Given the description of an element on the screen output the (x, y) to click on. 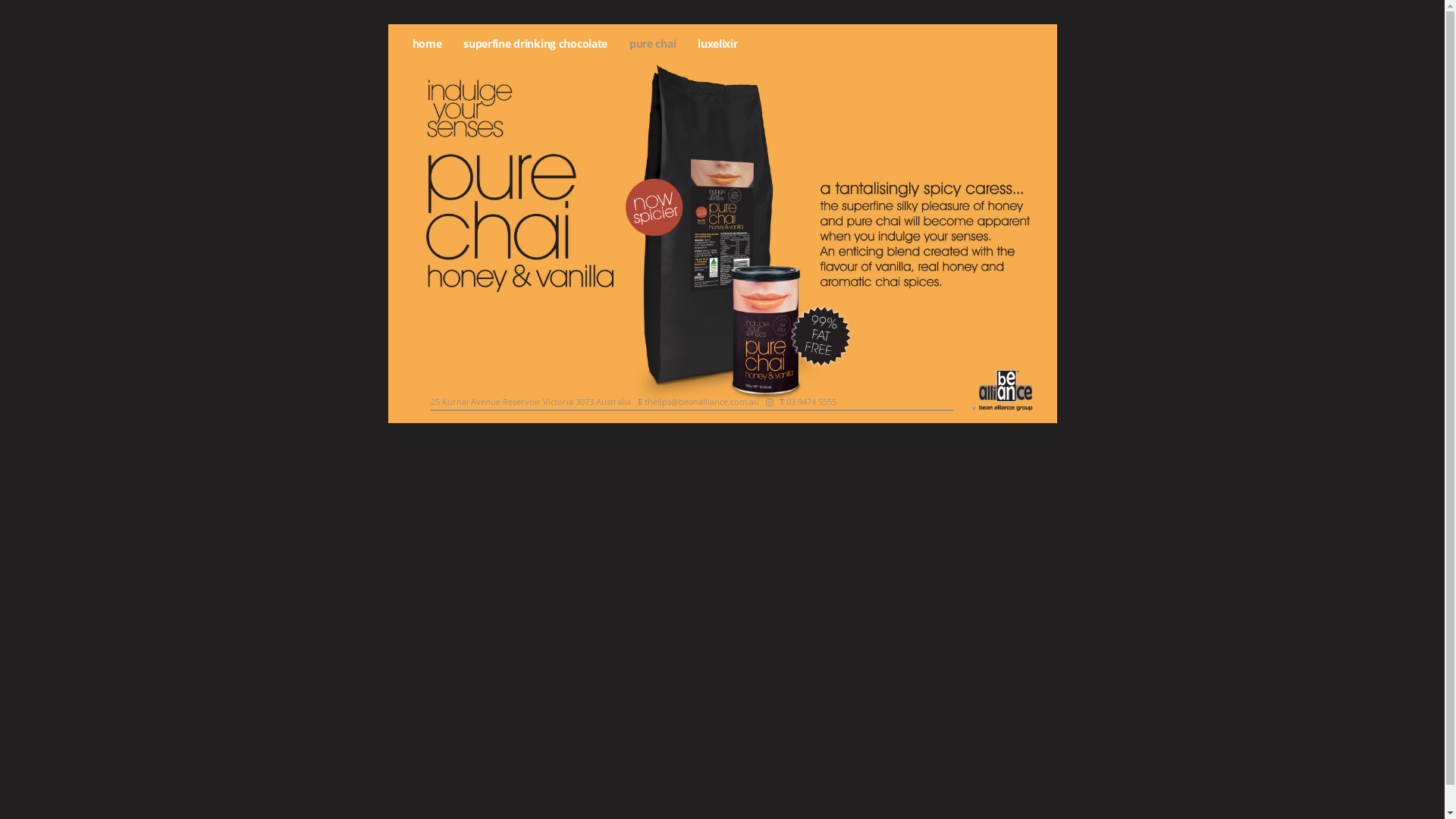
superfine drinking chocolate Element type: text (535, 43)
home Element type: text (427, 43)
pure chai Element type: text (652, 43)
03 9474 5555 Element type: text (811, 401)
luxelixir Element type: text (717, 43)
thelips@beanalliance.com.au Element type: text (701, 401)
